Given the description of an element on the screen output the (x, y) to click on. 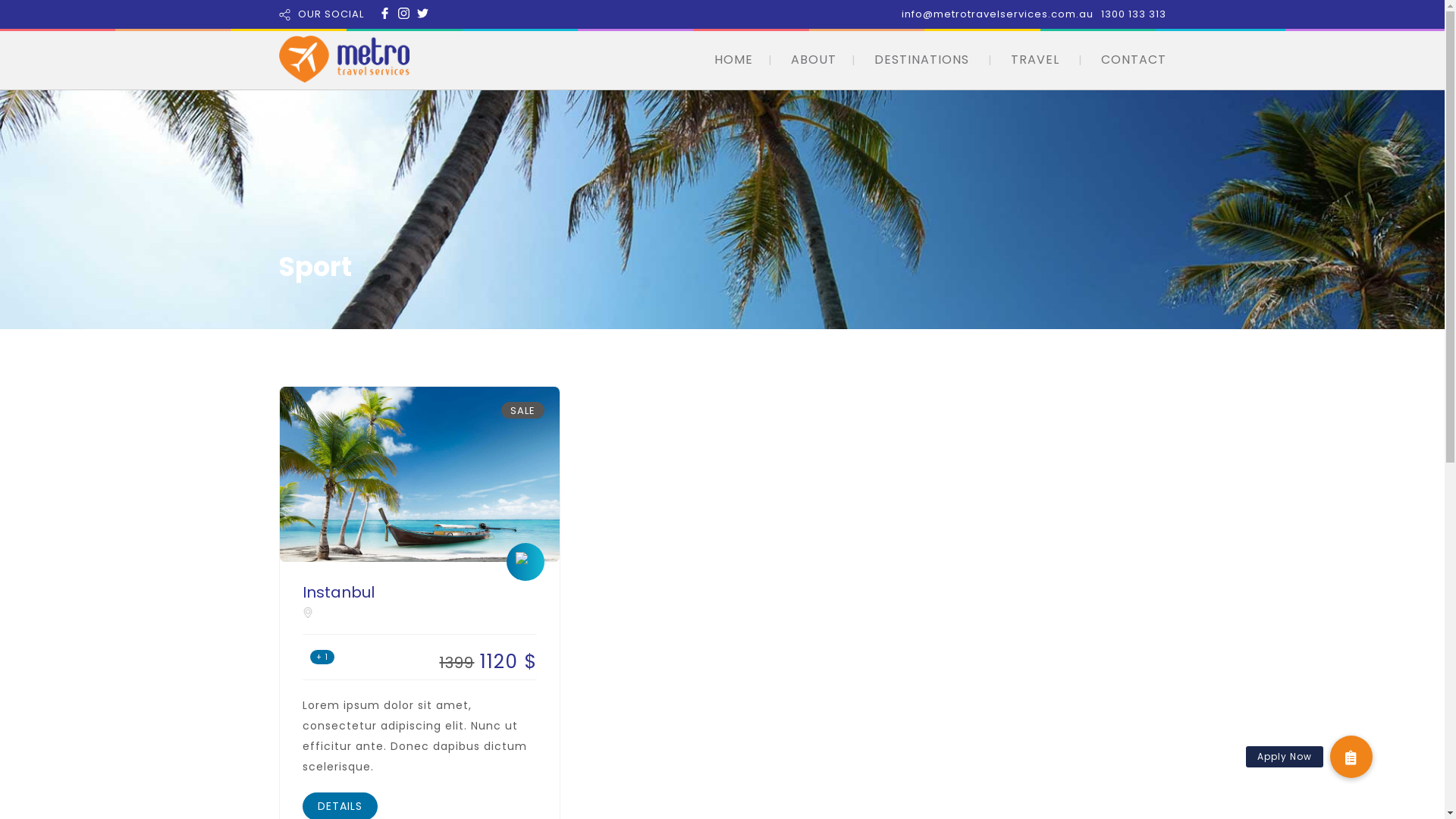
DESTINATIONS Element type: text (920, 59)
SALE Element type: text (522, 409)
CONTACT Element type: text (1133, 59)
OUR SOCIAL Element type: text (330, 13)
1399 1120 $ Element type: text (477, 661)
TRAVEL Element type: text (1034, 59)
Instanbul Element type: text (418, 591)
ABOUT Element type: text (812, 59)
HOME Element type: text (733, 59)
1300 133 313 Element type: text (1133, 13)
info@metrotravelservices.com.au Element type: text (996, 13)
Apply Now Element type: text (1351, 756)
